Given the description of an element on the screen output the (x, y) to click on. 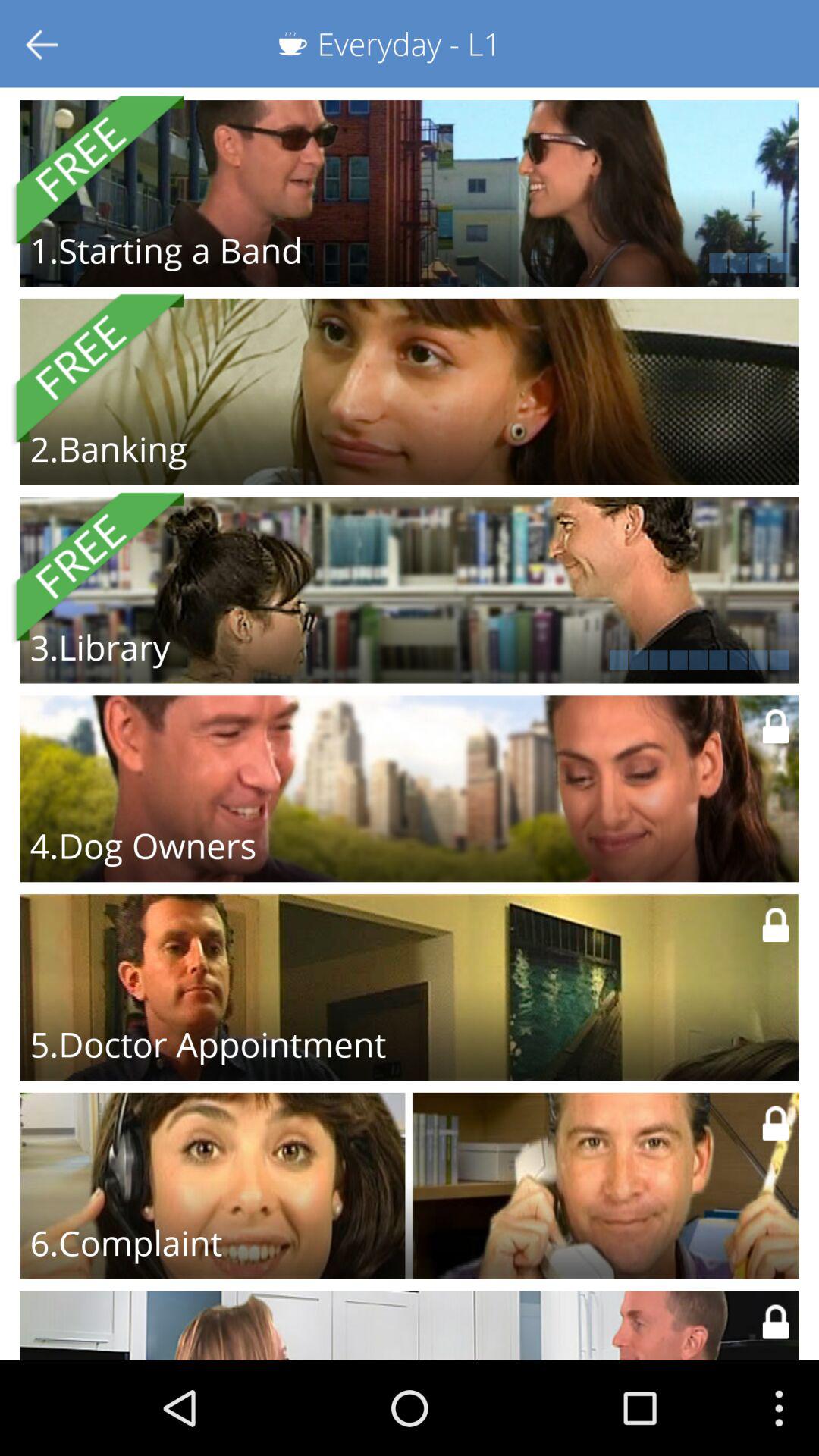
select 3.library (100, 646)
